Given the description of an element on the screen output the (x, y) to click on. 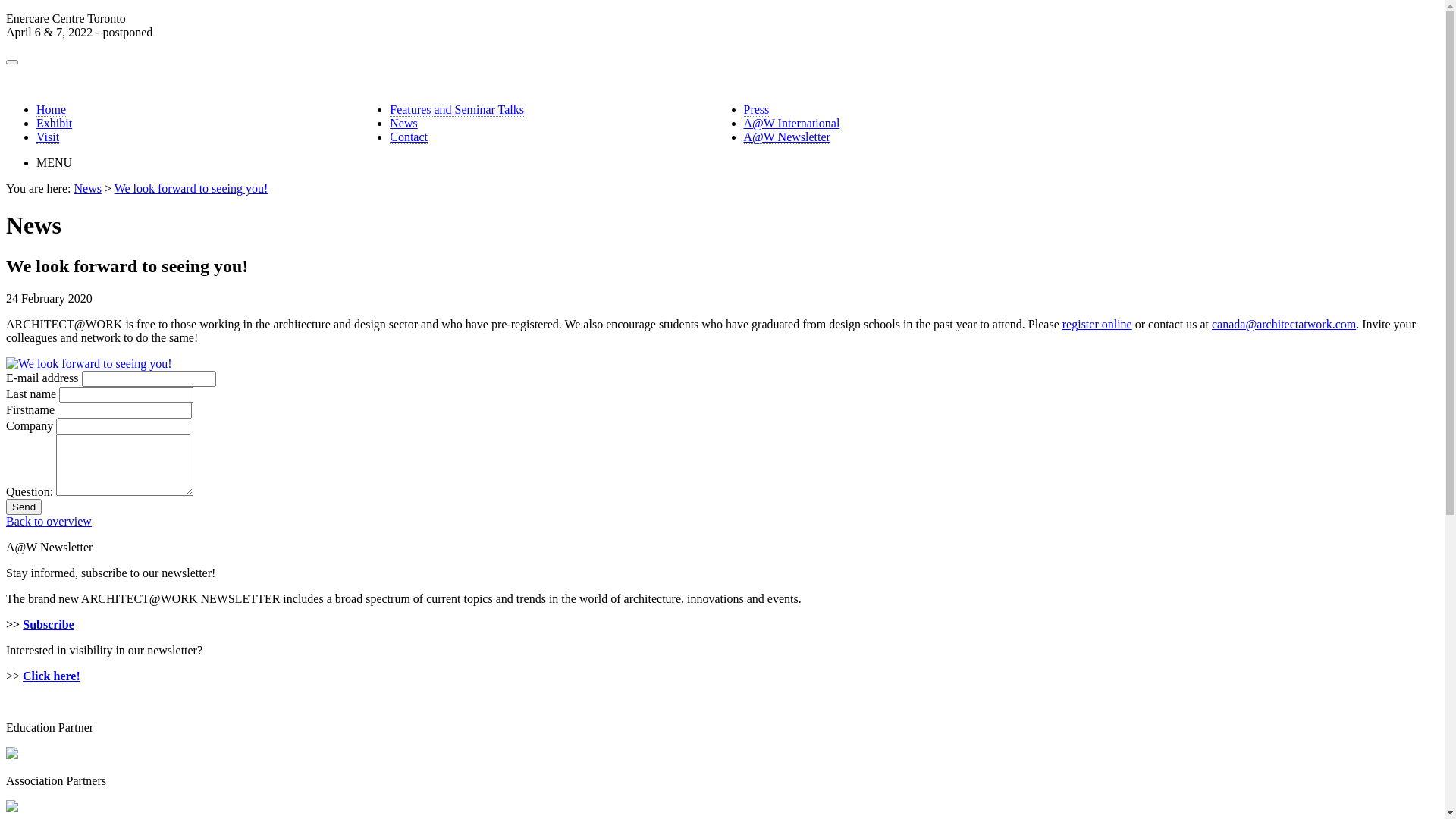
News Element type: text (86, 188)
News Element type: text (403, 123)
Contact Element type: text (408, 137)
E-mail address
Last name
Firstname
Company
Question: Element type: text (722, 448)
We look forward to seeing you! Element type: text (191, 188)
Send Element type: text (23, 506)
Back to overview Element type: text (48, 520)
Features and Seminar Talks Element type: text (456, 109)
Subscribe Element type: text (48, 624)
Visit Element type: text (47, 137)
canada@architectatwork.com Element type: text (1283, 323)
A@W Newsletter Element type: text (786, 137)
A@W International Element type: text (791, 123)
Press Element type: text (755, 109)
register online Element type: text (1097, 323)
Exhibit Element type: text (54, 123)
Click here! Element type: text (51, 675)
Home Element type: text (50, 109)
